Given the description of an element on the screen output the (x, y) to click on. 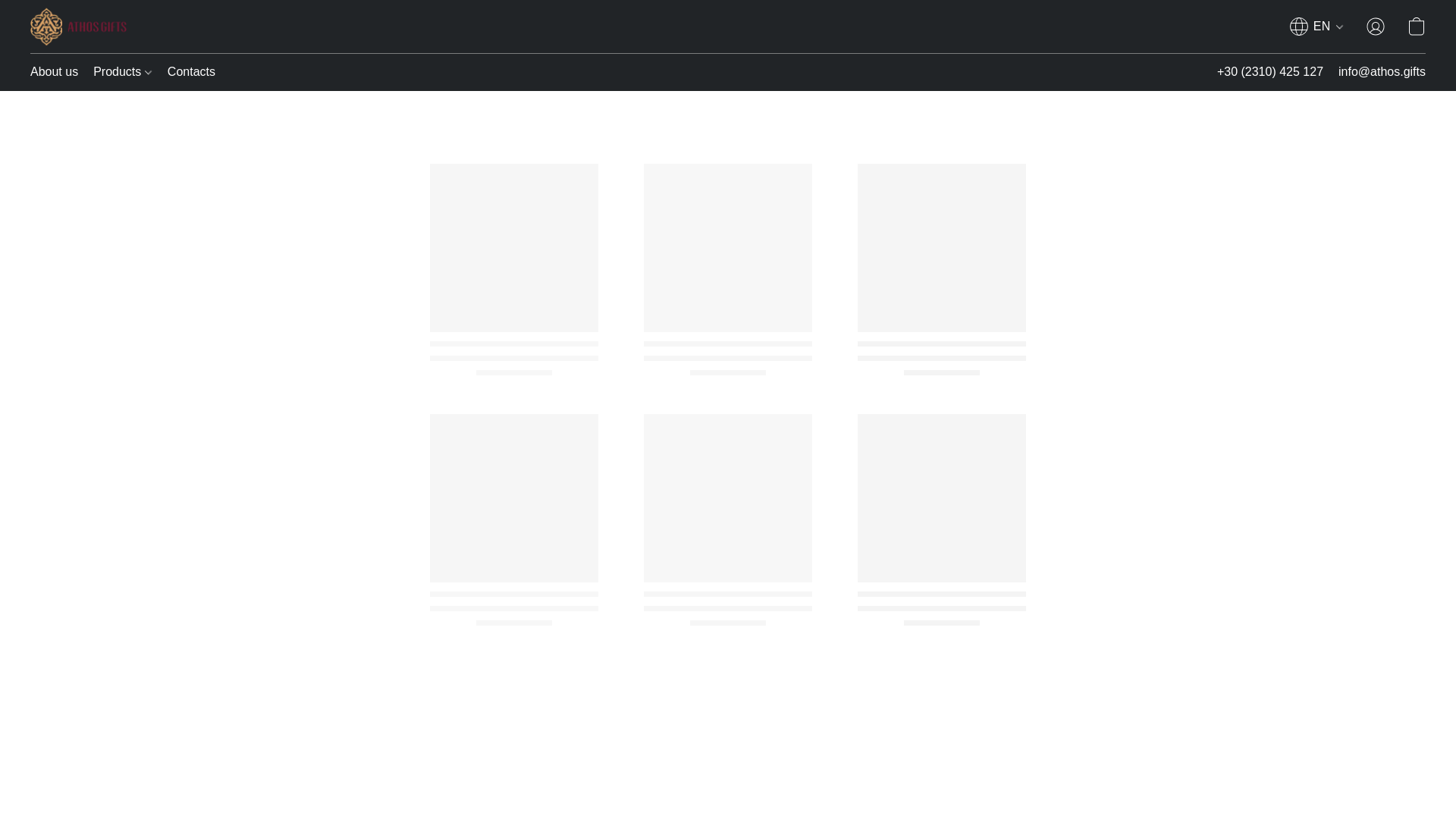
Products (122, 71)
Go to your shopping cart (1416, 26)
Contacts (187, 71)
About us (57, 71)
